Given the description of an element on the screen output the (x, y) to click on. 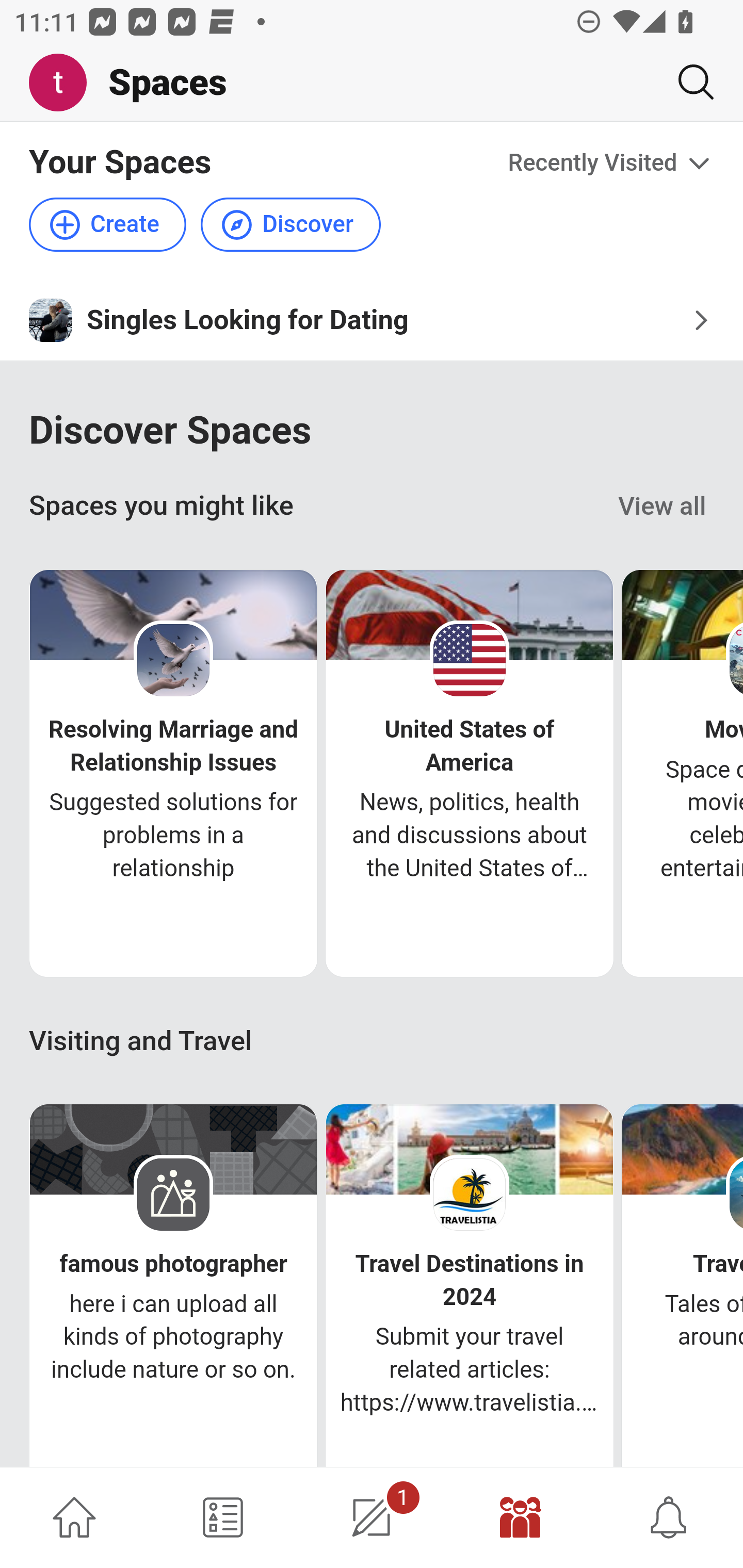
Me (64, 83)
Search (688, 82)
Recently Visited (610, 162)
Create (107, 224)
Discover (289, 224)
View all (662, 506)
Resolving Marriage and Relationship Issues (172, 745)
United States of America (469, 745)
famous photographer (173, 1263)
Travel Destinations in 2024 (469, 1279)
1 (371, 1517)
